Given the description of an element on the screen output the (x, y) to click on. 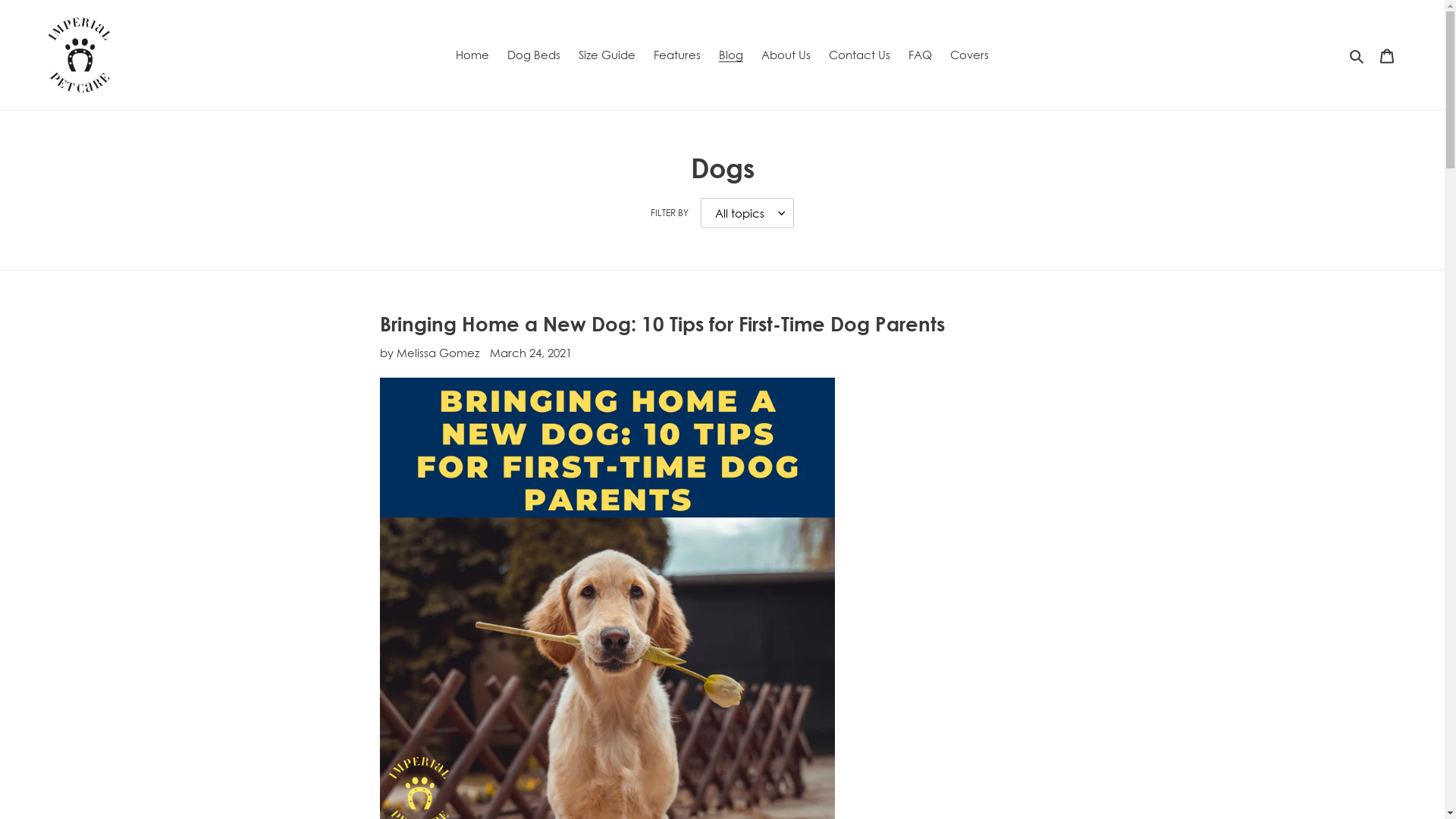
Covers Element type: text (969, 54)
Home Element type: text (472, 54)
Cart Element type: text (1386, 54)
Blog Element type: text (730, 54)
About Us Element type: text (785, 54)
Size Guide Element type: text (607, 54)
FAQ Element type: text (919, 54)
Bringing Home a New Dog: 10 Tips for First-Time Dog Parents Element type: text (661, 322)
Dog Beds Element type: text (533, 54)
Contact Us Element type: text (859, 54)
Features Element type: text (677, 54)
Search Element type: text (1357, 54)
